Given the description of an element on the screen output the (x, y) to click on. 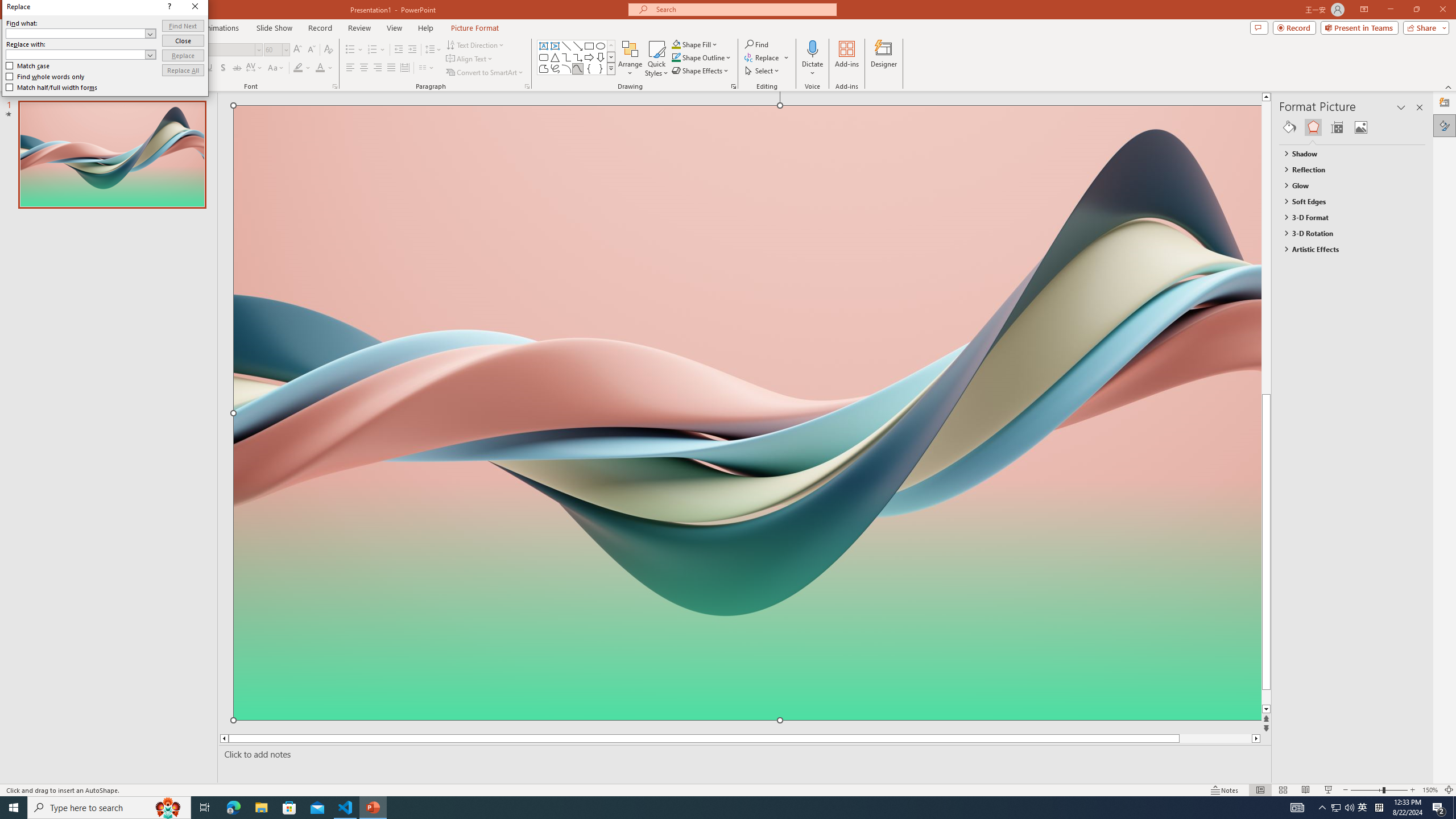
Find Next (183, 25)
Match case (27, 65)
